Given the description of an element on the screen output the (x, y) to click on. 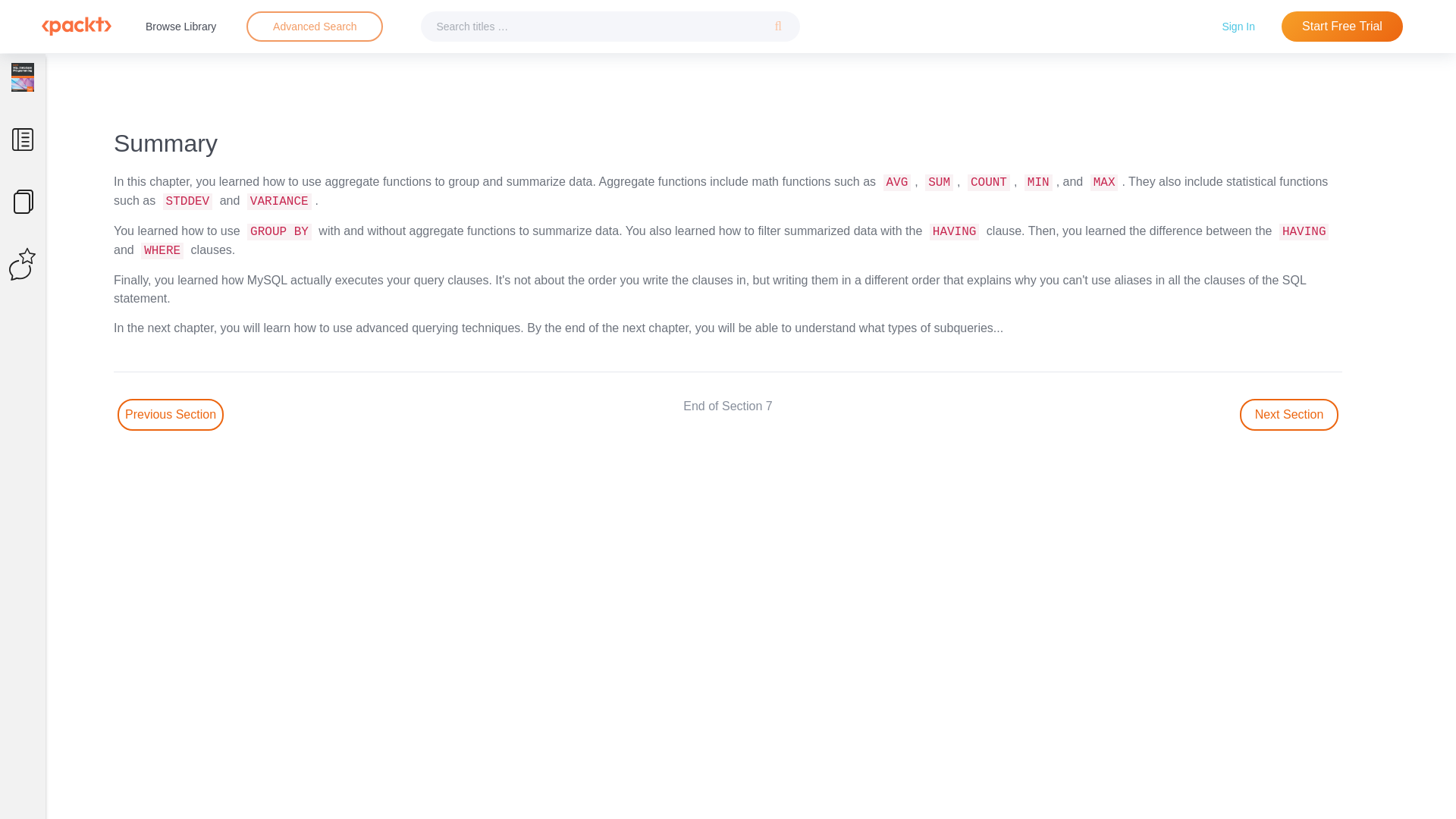
Sign In (1238, 26)
Go to Previous section (170, 414)
Advanced Search (314, 26)
Advanced search (314, 26)
Browse Library (180, 26)
Go to next section (1289, 414)
Advanced Search (315, 26)
Start Free Trial (1342, 26)
